Given the description of an element on the screen output the (x, y) to click on. 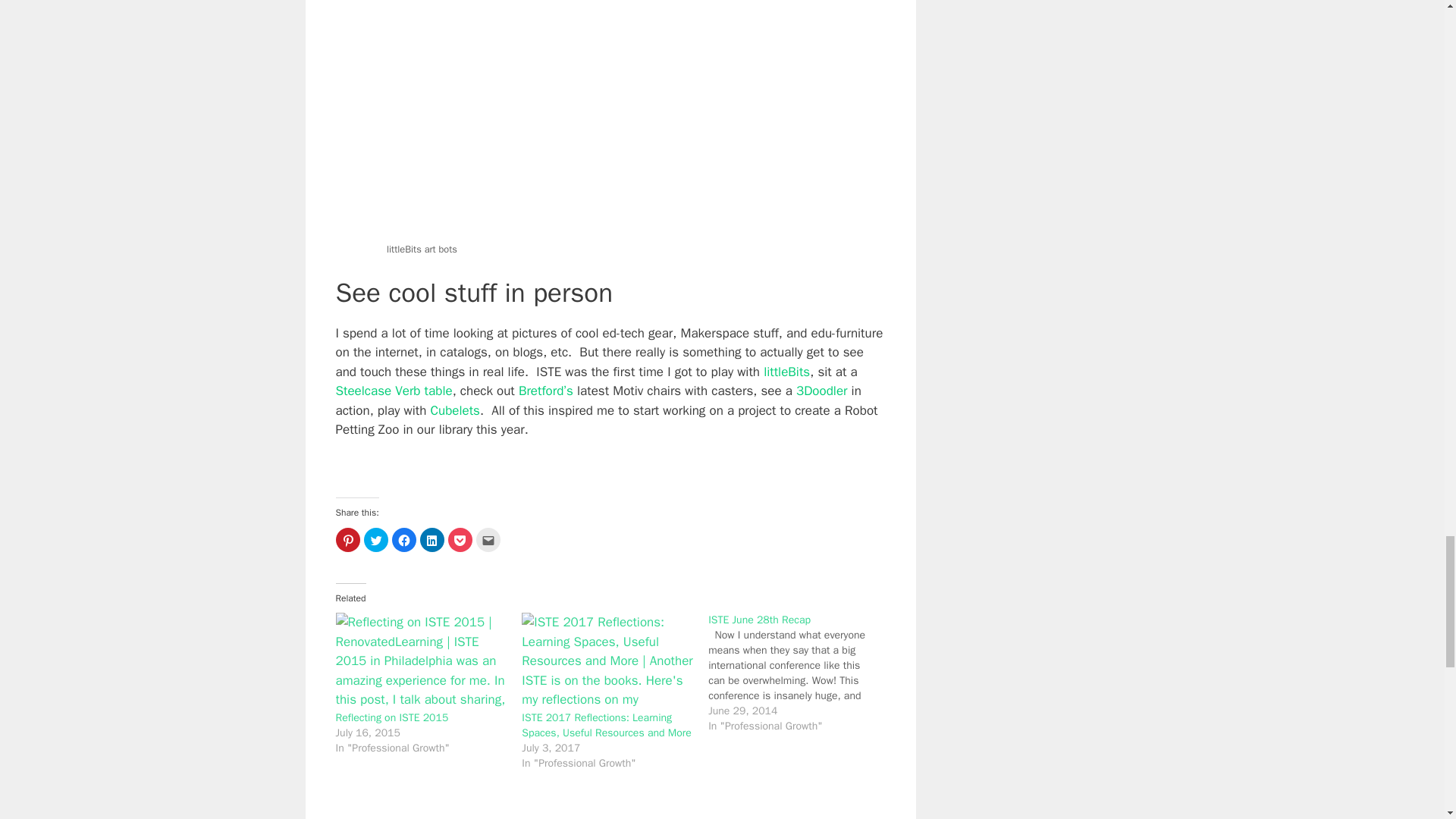
Click to share on Pocket (458, 539)
Click to email a link to a friend (488, 539)
Reflecting on ISTE 2015 (420, 661)
Reflecting on ISTE 2015 (391, 717)
Click to share on Facebook (402, 539)
Click to share on Pinterest (346, 539)
Click to share on Twitter (376, 539)
Click to share on LinkedIn (432, 539)
